Given the description of an element on the screen output the (x, y) to click on. 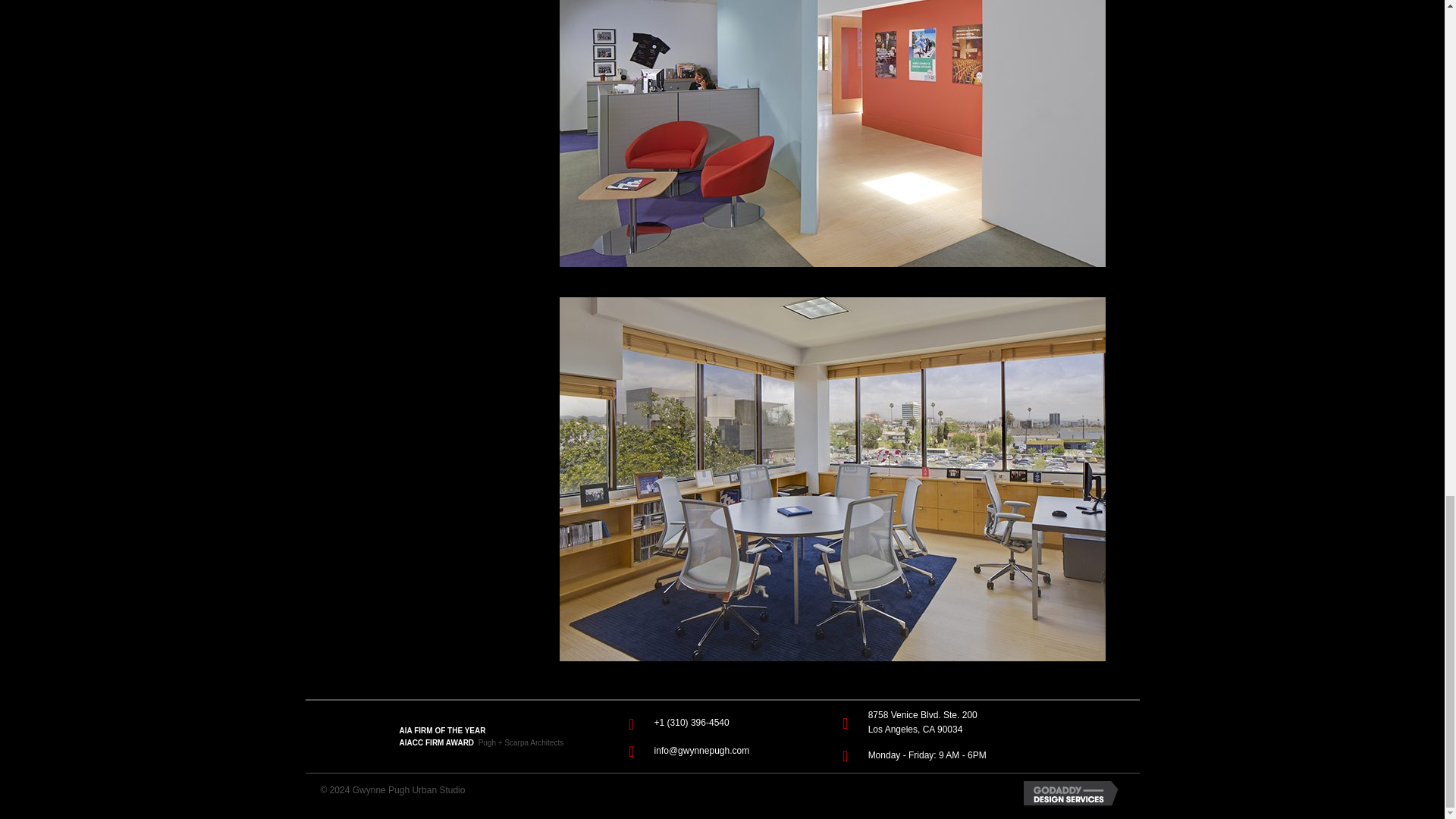
AIAlogo (342, 737)
